Given the description of an element on the screen output the (x, y) to click on. 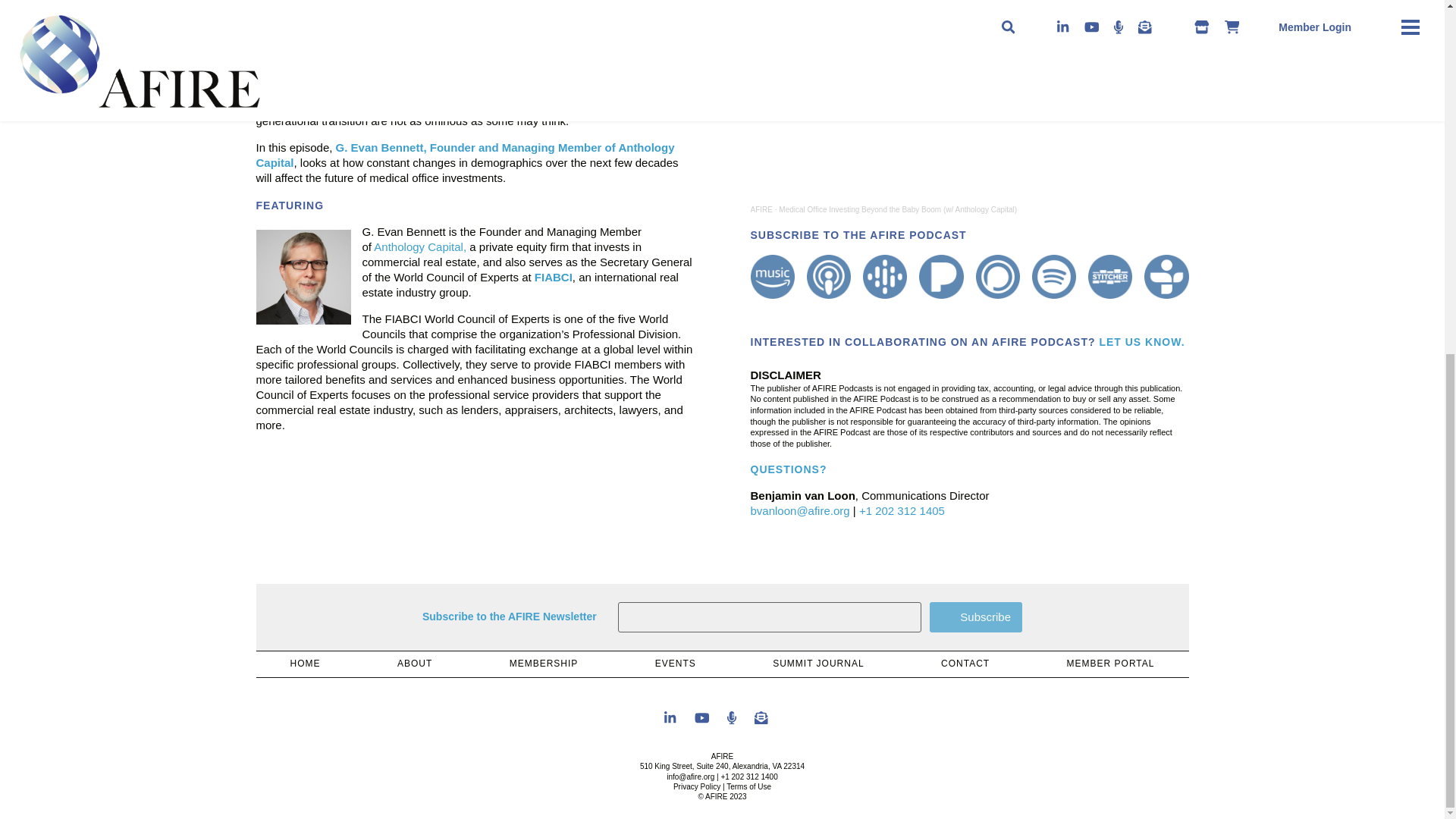
AFIRE (762, 209)
